Given the description of an element on the screen output the (x, y) to click on. 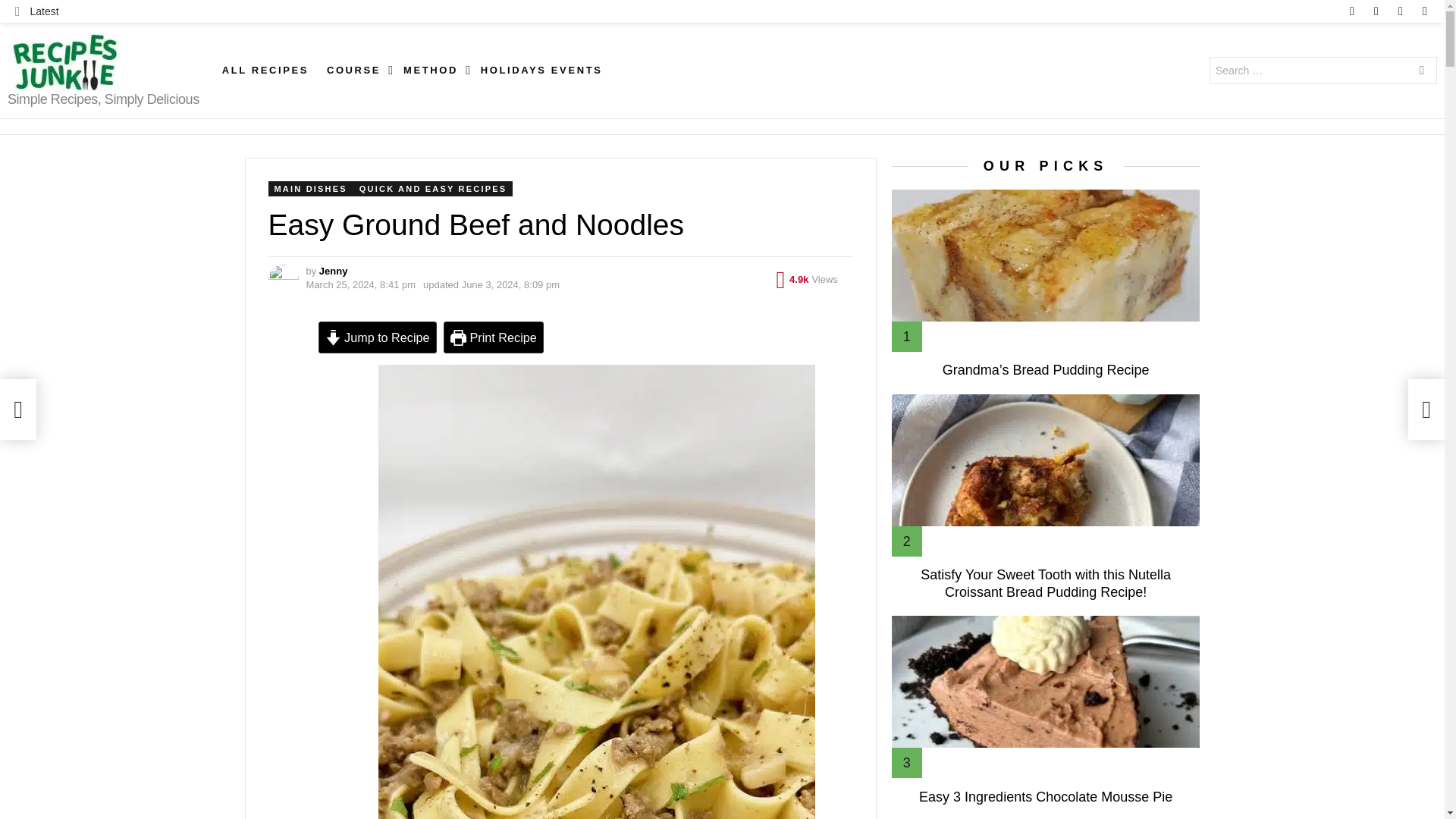
MAIN DISHES (310, 187)
Print Recipe (493, 336)
facebook (1351, 11)
Latest (36, 10)
ALL RECIPES (264, 69)
youtube (1424, 11)
Posts by Jenny (332, 270)
COURSE (355, 69)
METHOD (433, 69)
SEARCH (1421, 71)
Search for: (1323, 70)
HOLIDAYS EVENTS (541, 69)
Jump to Recipe (377, 336)
QUICK AND EASY RECIPES (432, 187)
instagram (1376, 11)
